Given the description of an element on the screen output the (x, y) to click on. 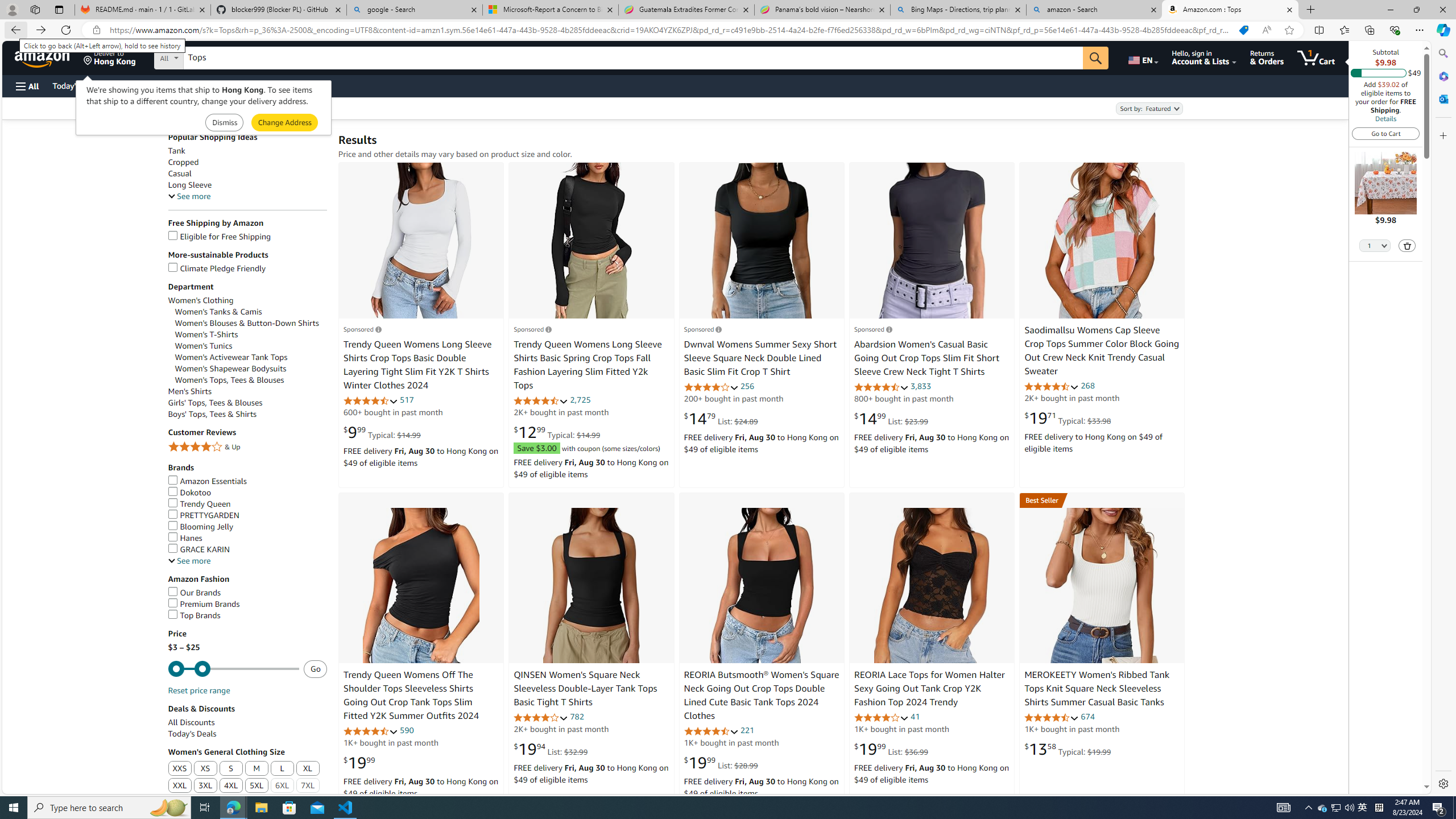
Quantity Selector (1374, 245)
Search in (210, 56)
Reset price range (198, 690)
Amazon.com : Tops (1230, 9)
M (255, 769)
7XL (307, 786)
Casual (247, 173)
3XL (205, 786)
Women's Blouses & Button-Down Shirts (250, 323)
Registry (205, 85)
